Given the description of an element on the screen output the (x, y) to click on. 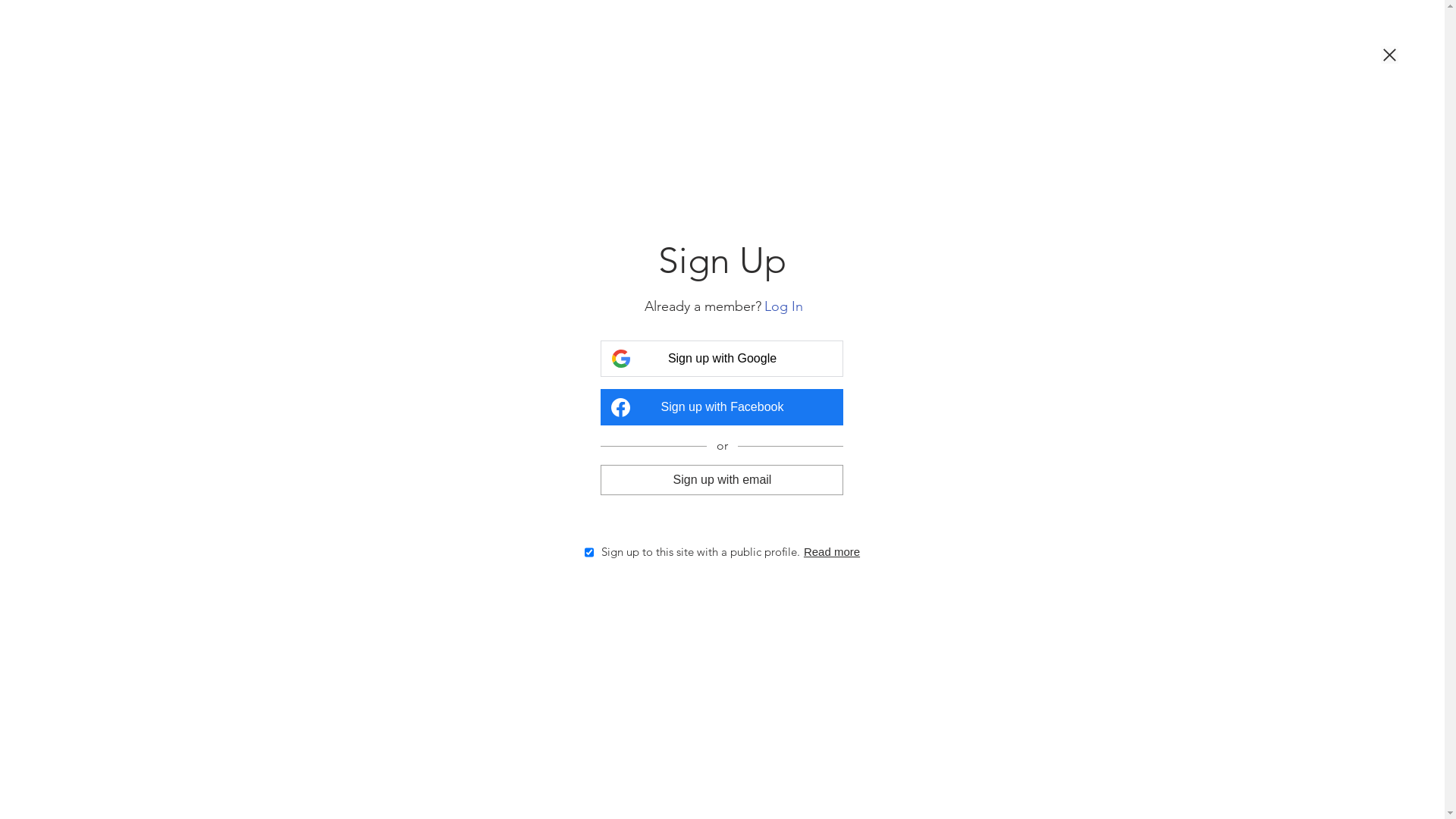
Log In Element type: text (783, 306)
Sign up with email Element type: text (721, 479)
Sign up with Google Element type: text (721, 358)
Sign up with Facebook Element type: text (721, 407)
Read more Element type: text (831, 551)
